Given the description of an element on the screen output the (x, y) to click on. 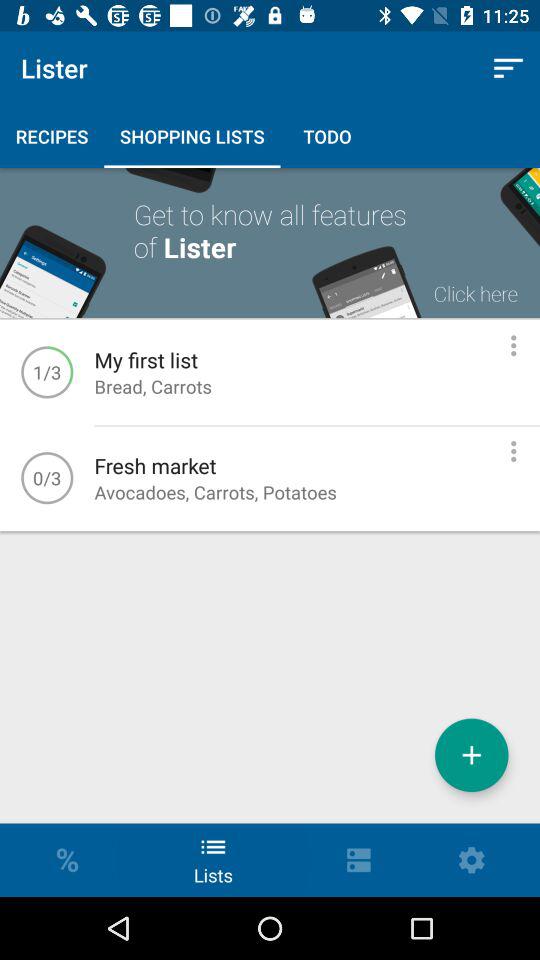
open icon next to lister icon (508, 67)
